Given the description of an element on the screen output the (x, y) to click on. 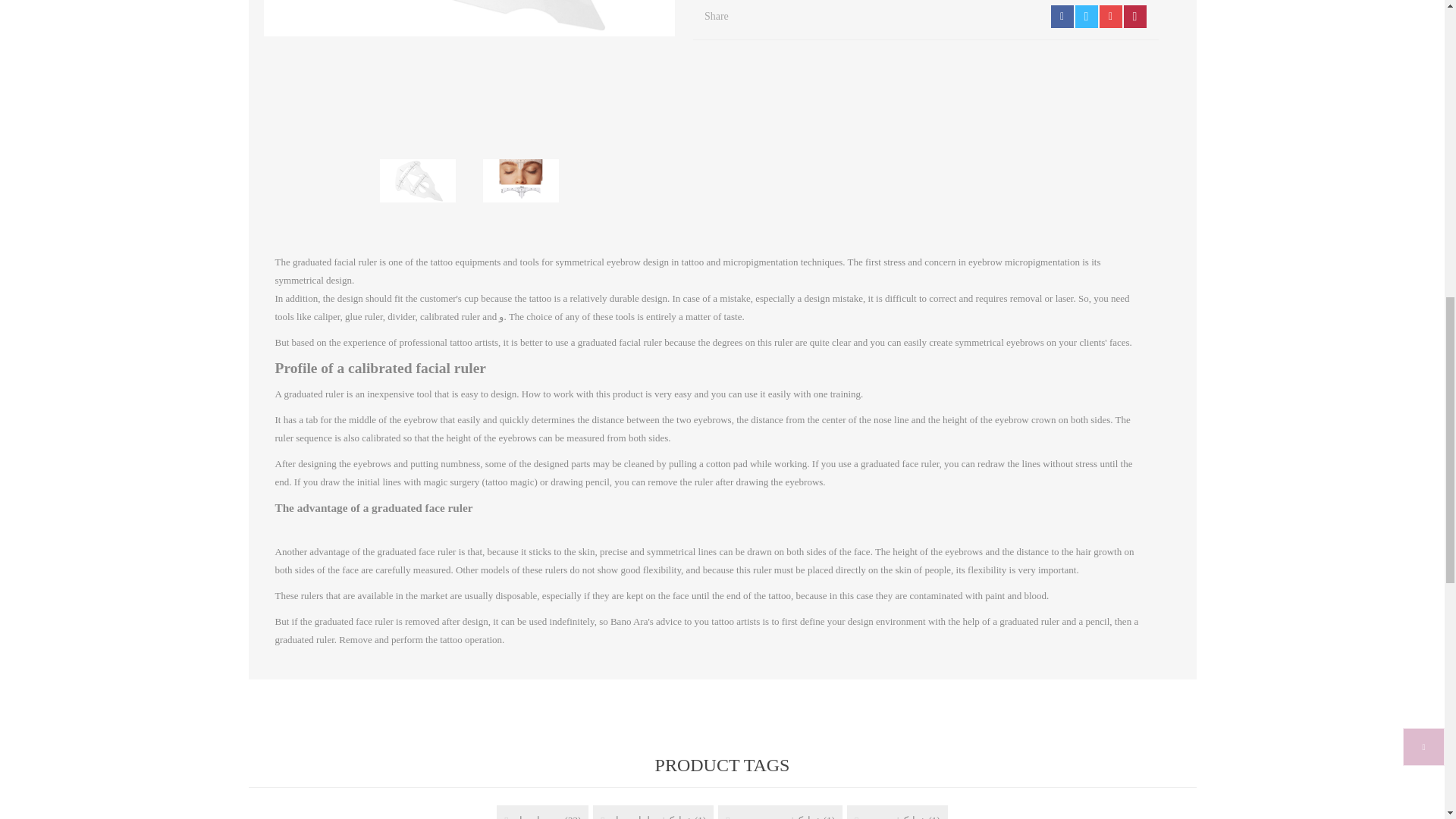
pinterest (1110, 15)
facebook (1062, 15)
twitter (1086, 15)
